Given the description of an element on the screen output the (x, y) to click on. 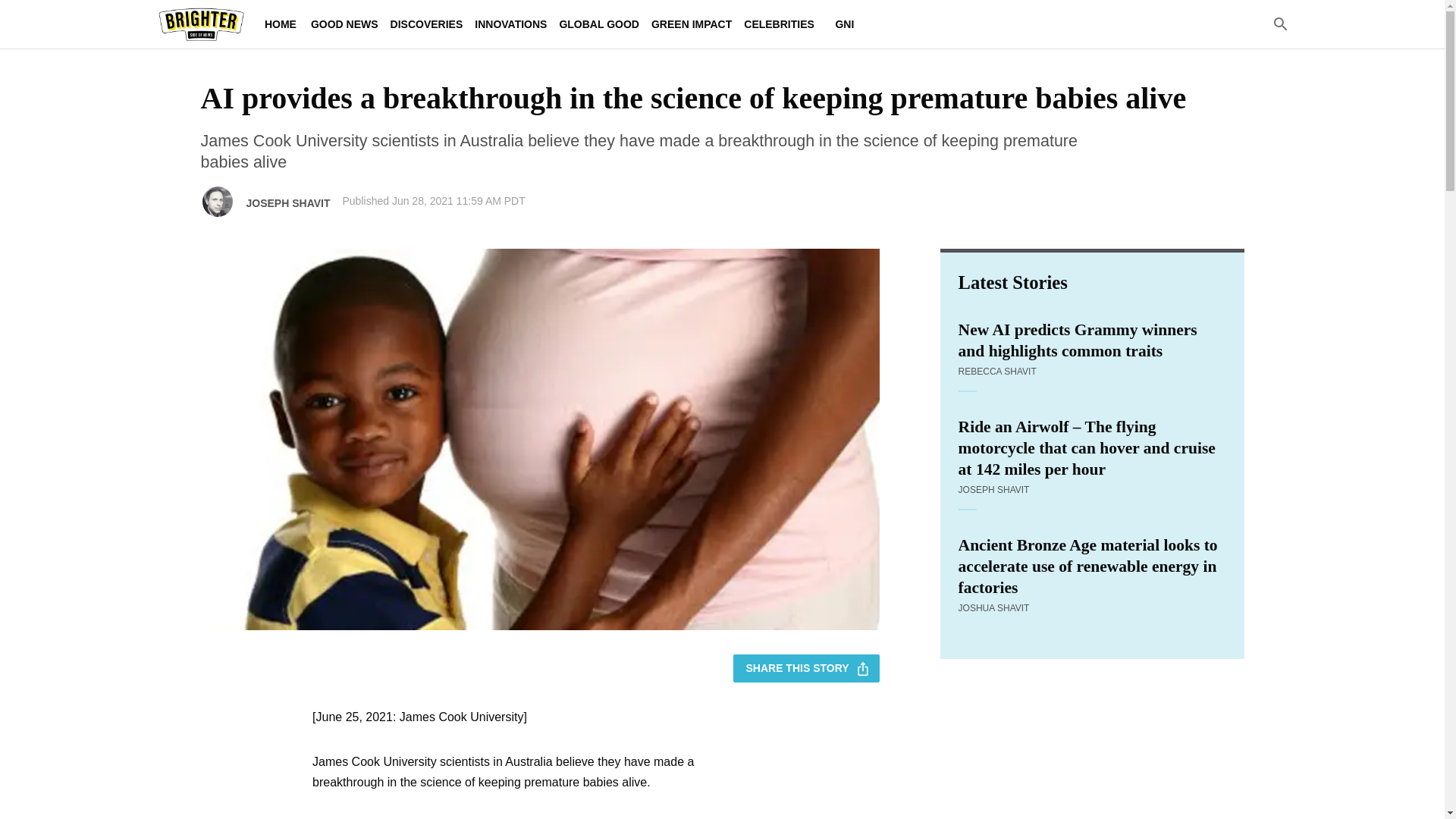
HOME (280, 24)
JOSEPH SHAVIT (288, 203)
Brighter Side of News (200, 24)
REBECCA SHAVIT (997, 371)
DISCOVERIES (426, 24)
GREEN IMPACT (691, 24)
GNI (845, 24)
JOSEPH SHAVIT (993, 489)
JOSHUA SHAVIT (993, 607)
GLOBAL GOOD (599, 24)
